Given the description of an element on the screen output the (x, y) to click on. 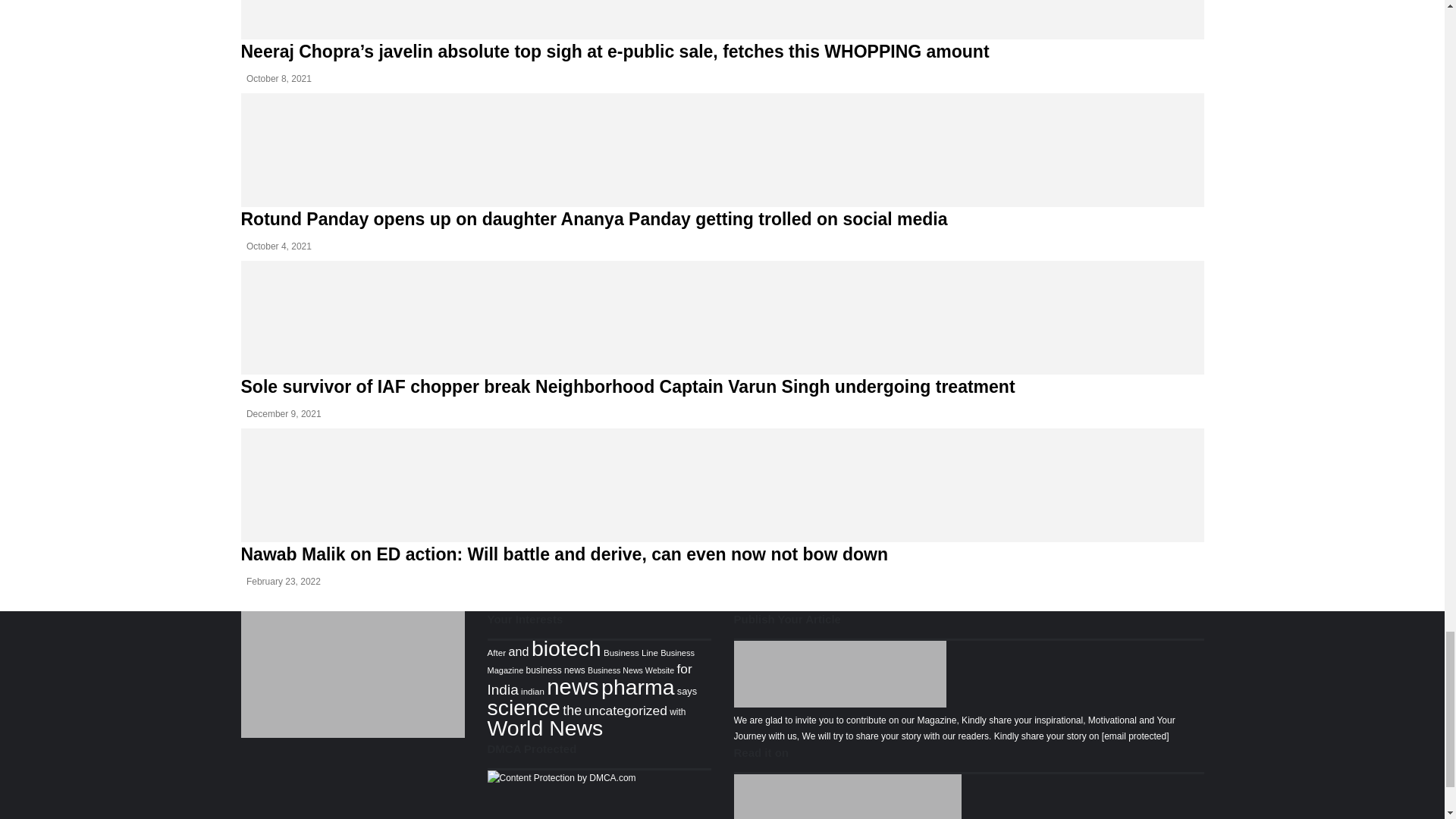
Content Protection by DMCA.com (560, 777)
